Given the description of an element on the screen output the (x, y) to click on. 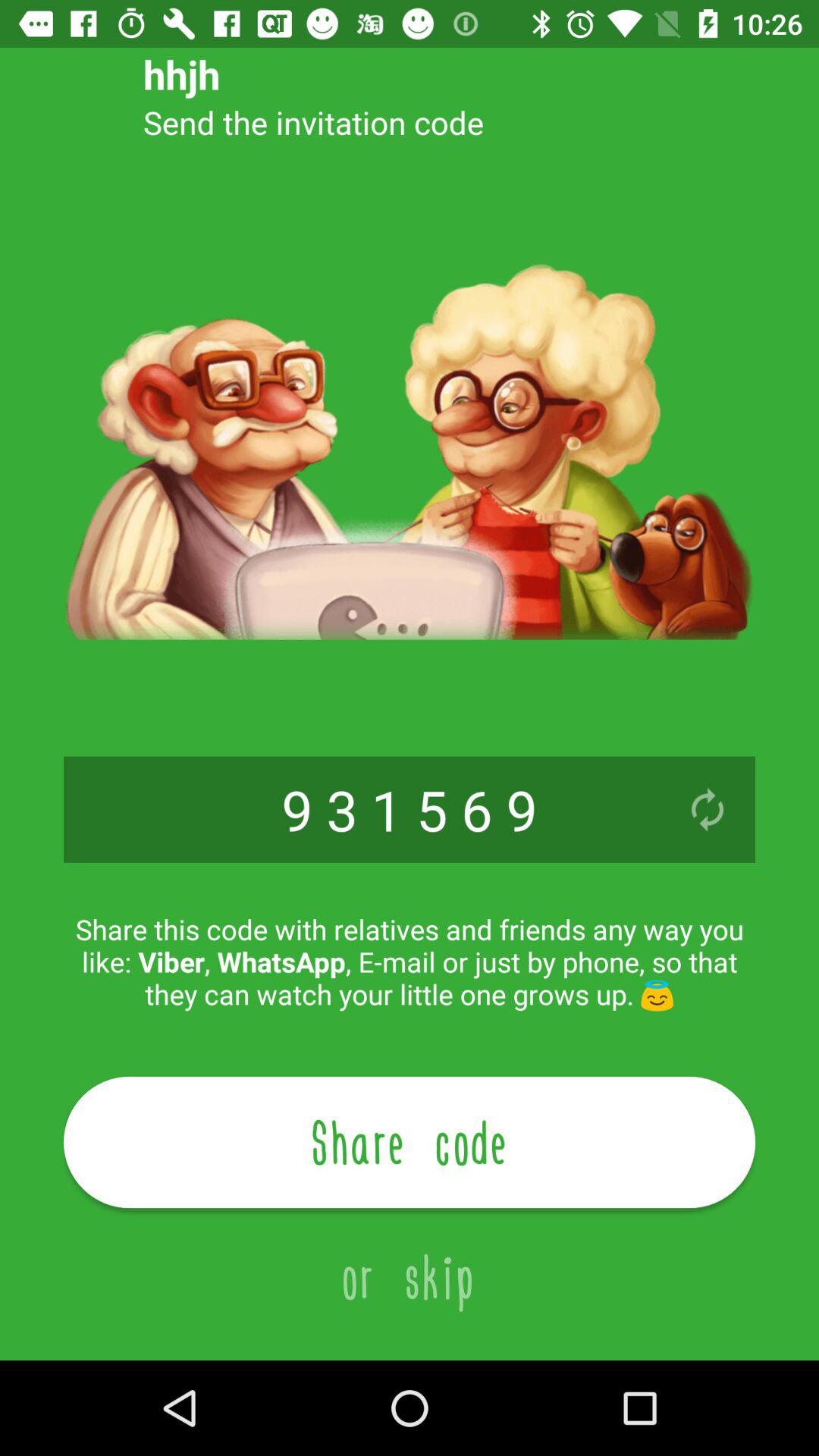
jump until or skip item (409, 1260)
